Given the description of an element on the screen output the (x, y) to click on. 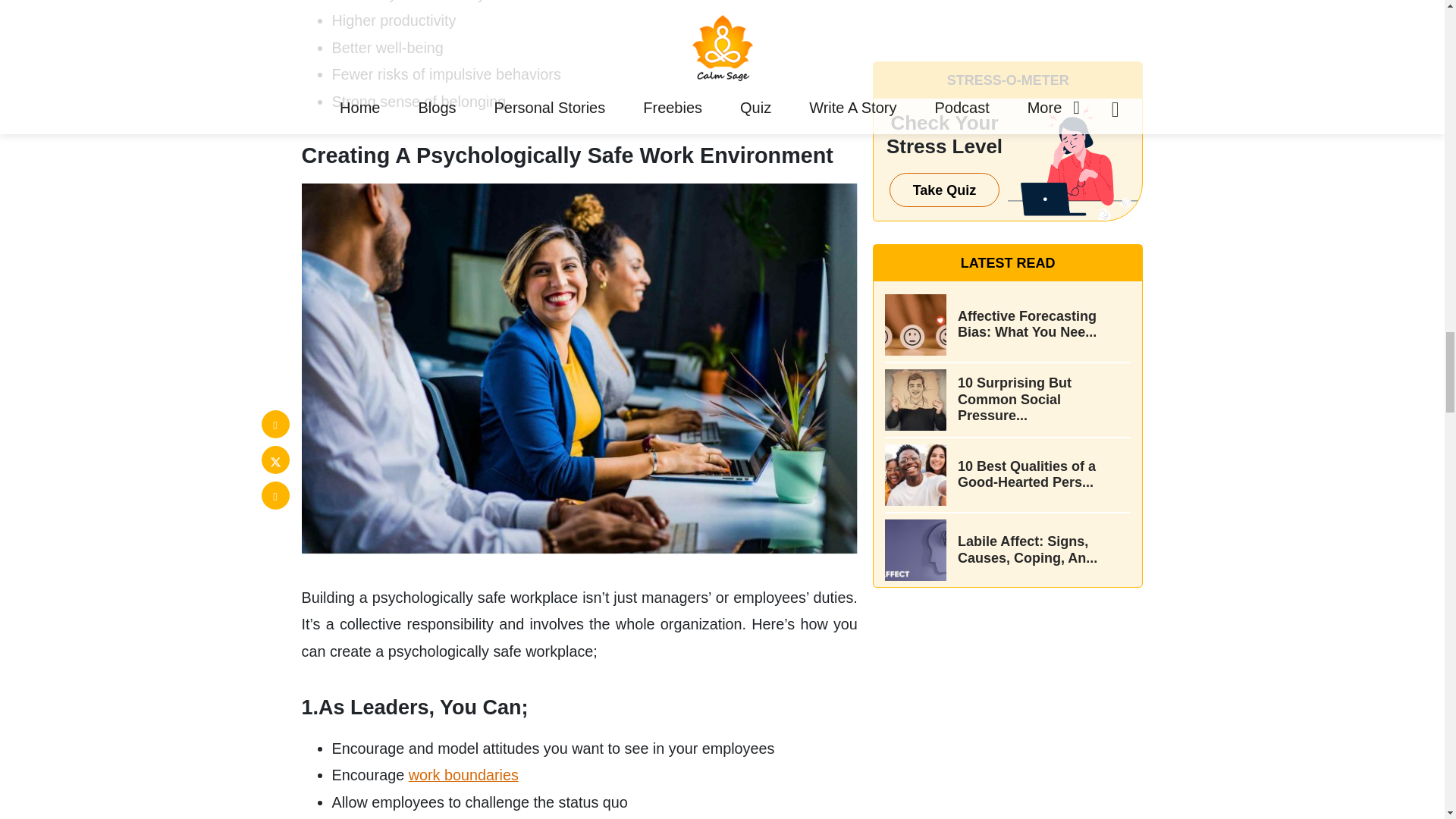
work boundaries (463, 774)
